Given the description of an element on the screen output the (x, y) to click on. 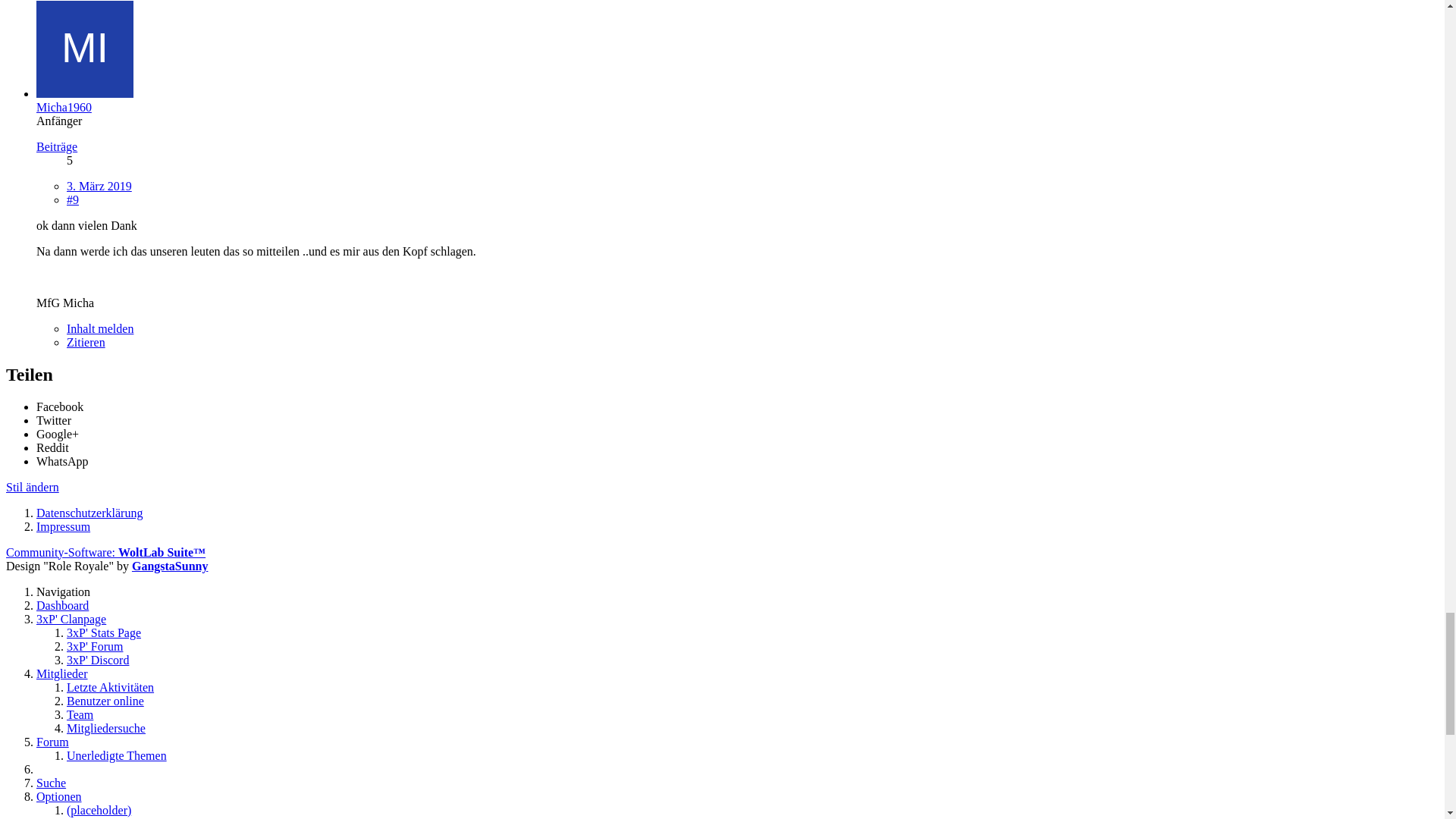
Forum Element type: text (52, 591)
Artikel Element type: text (53, 469)
Mitglieder Element type: text (61, 86)
Anmelden oder registrieren Element type: text (102, 207)
Seiten Element type: text (51, 482)
Dieses Forum Element type: text (69, 442)
Dieses Thema Element type: text (40, 375)
3xP' Forum Element type: text (64, 577)
Dieses Thema Element type: text (70, 428)
3xP' Clanpage Element type: text (71, 31)
3xP' Stats Page Element type: text (103, 45)
Spiele Element type: text (51, 605)
Benutzer online Element type: text (105, 113)
3xP' Forum Element type: text (94, 59)
3xP' Discord Element type: text (97, 72)
Call of Duty 4 Element type: text (71, 618)
Alles Element type: text (49, 401)
Suche Element type: text (50, 221)
Erweiterte Suche Element type: text (77, 523)
Unerledigte Themen Element type: text (116, 168)
Micha1960 Element type: text (63, 746)
Forum Element type: text (52, 496)
Team Element type: text (79, 127)
Mitgliedersuche Element type: text (105, 140)
Dashboard Element type: text (62, 18)
Forum Element type: text (52, 154)
